Given the description of an element on the screen output the (x, y) to click on. 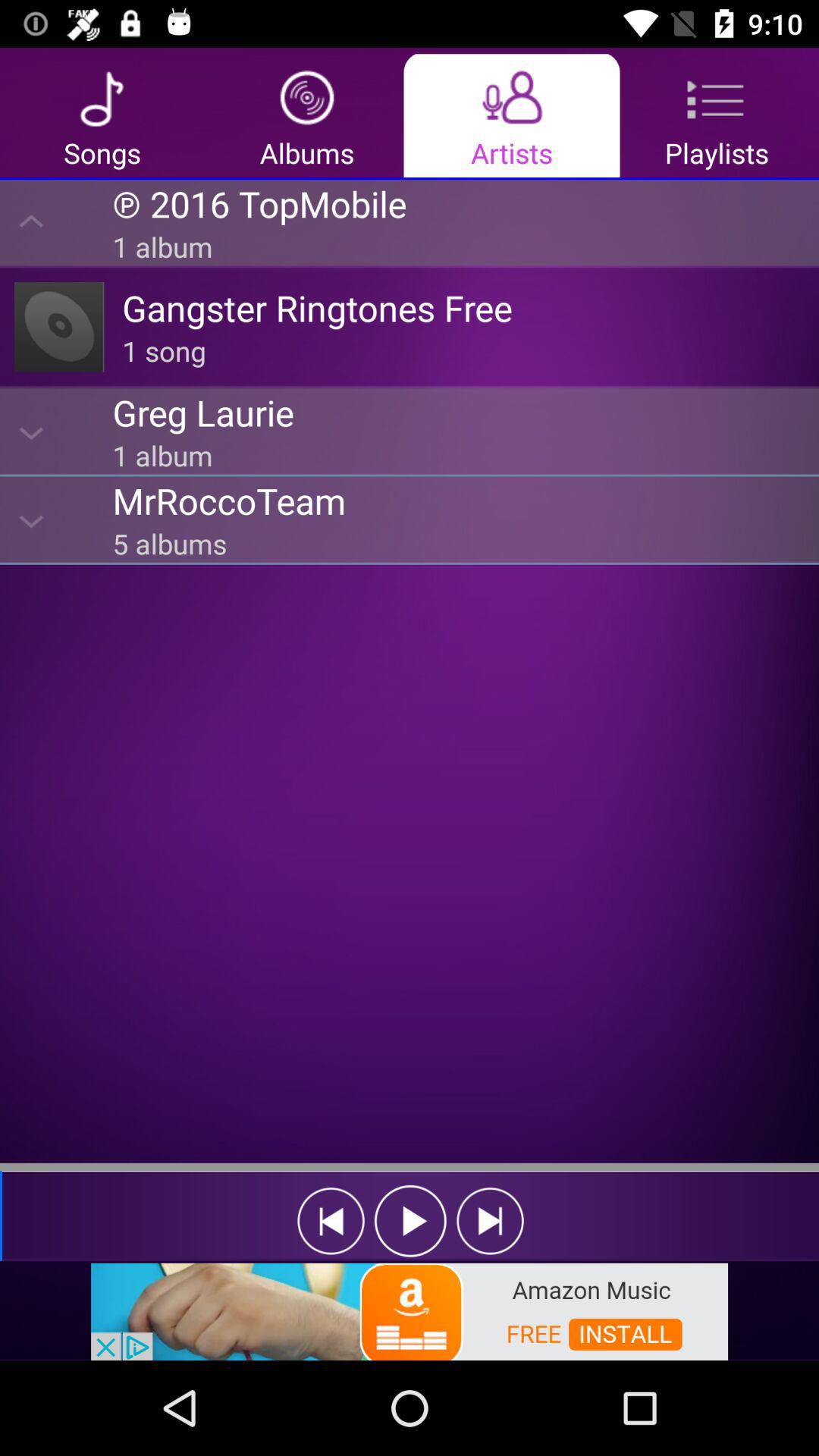
play (410, 1220)
